Given the description of an element on the screen output the (x, y) to click on. 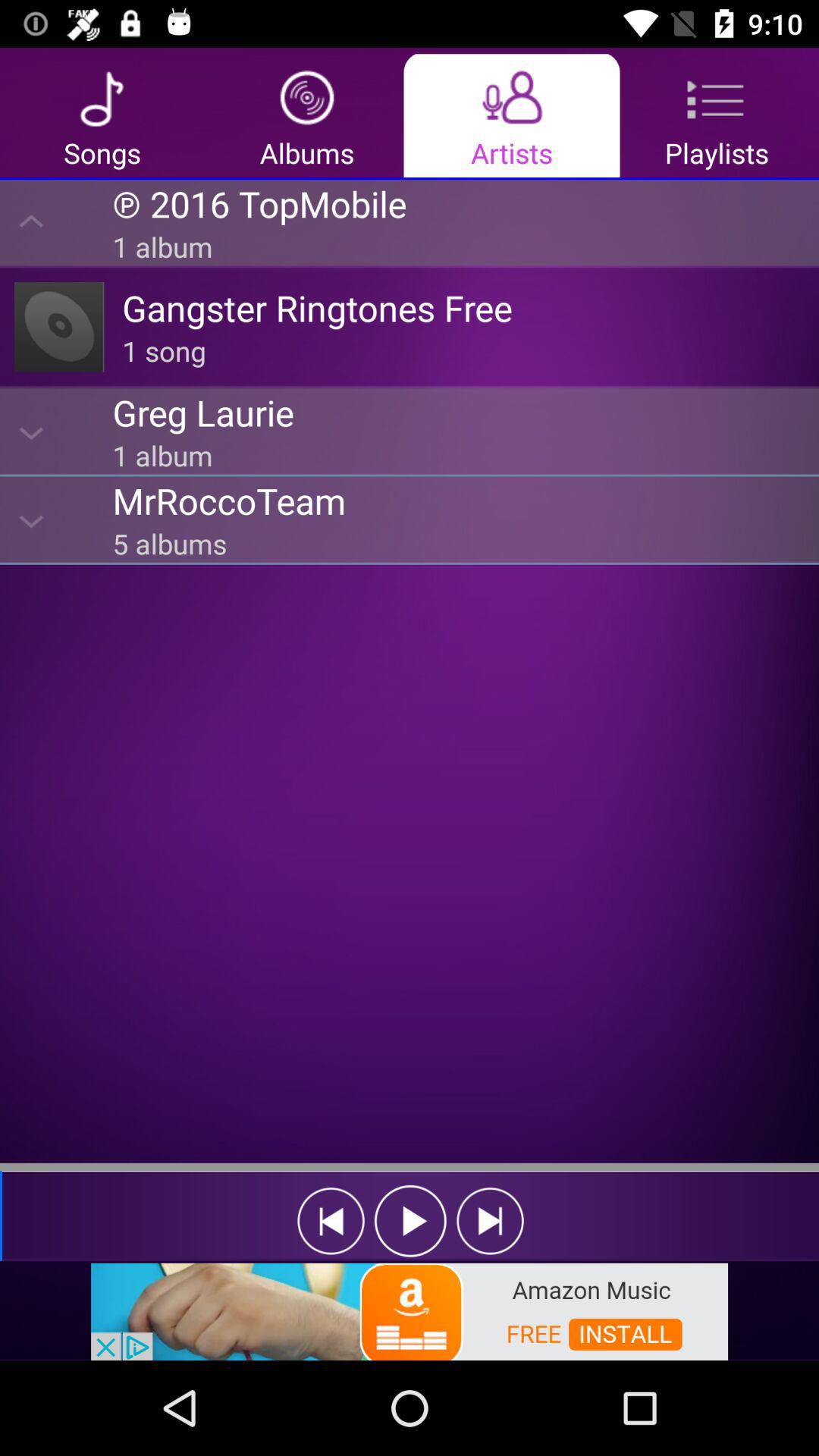
play (410, 1220)
